Given the description of an element on the screen output the (x, y) to click on. 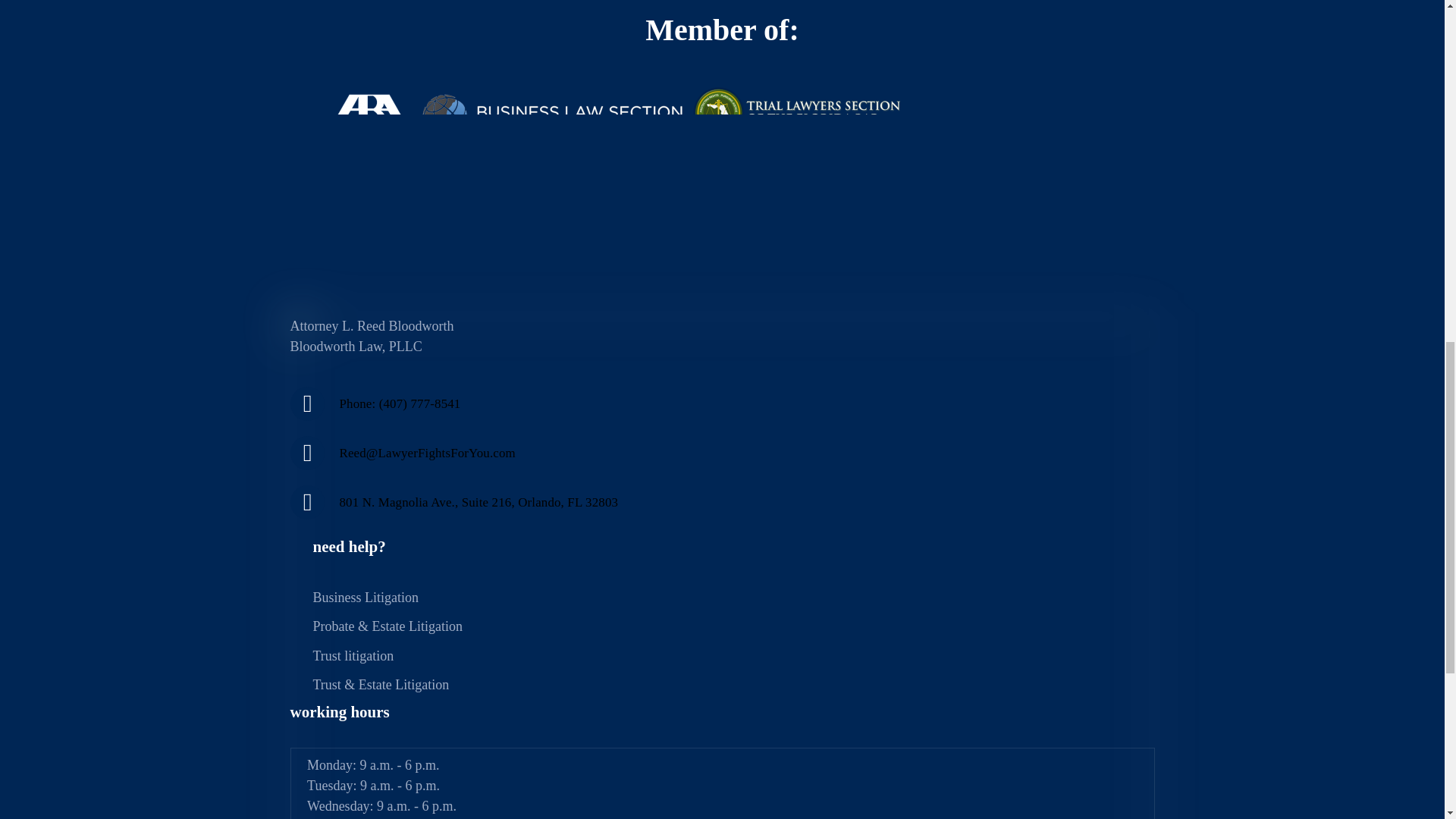
reed-bloodworth-law-pllc-associations (613, 167)
